Given the description of an element on the screen output the (x, y) to click on. 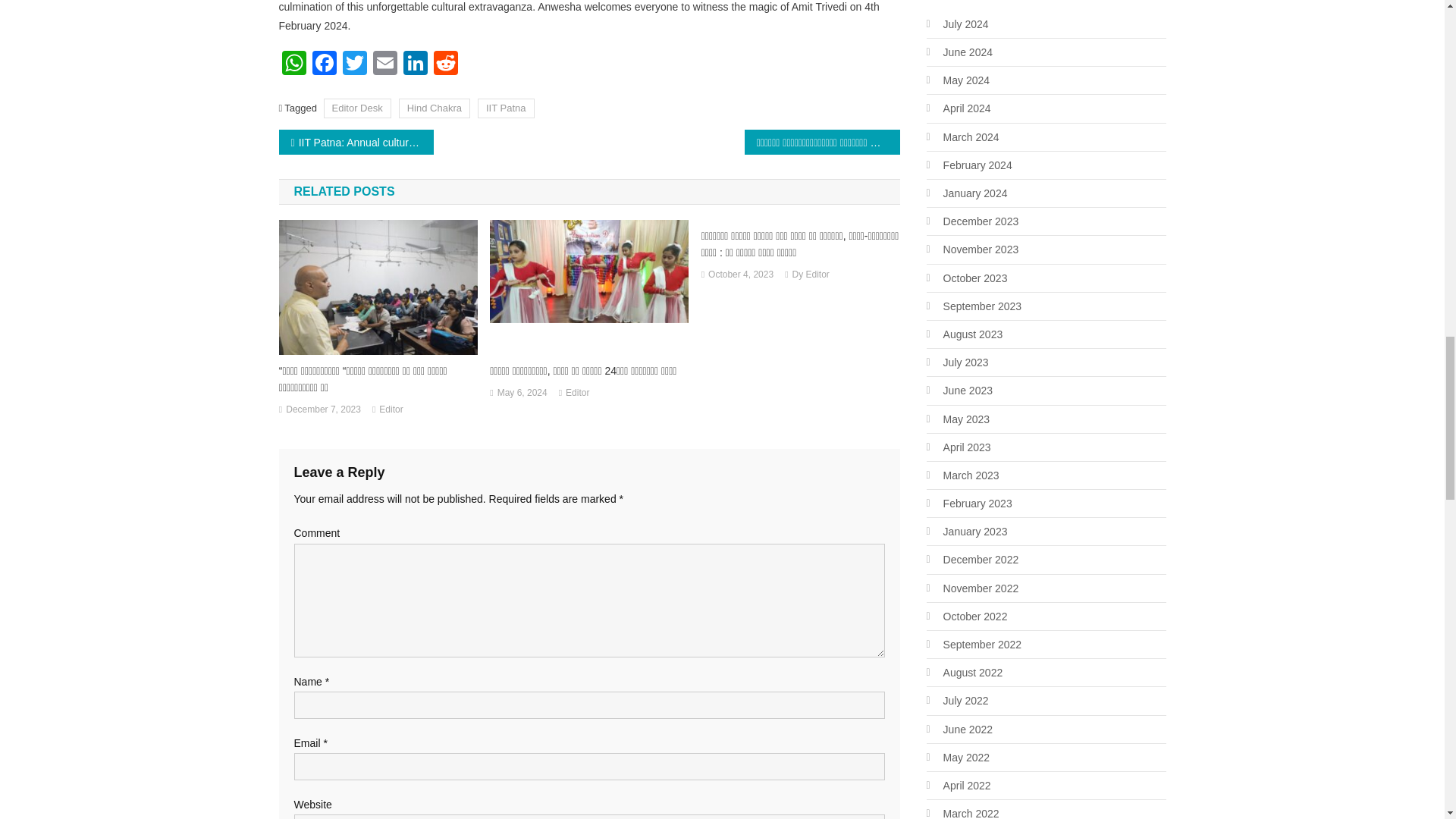
Facebook (323, 64)
Reddit (445, 64)
WhatsApp (293, 64)
Facebook (323, 64)
Editor (582, 393)
Hind Chakra (434, 107)
LinkedIn (415, 64)
Email (384, 64)
WhatsApp (293, 64)
Editor (385, 426)
